Given the description of an element on the screen output the (x, y) to click on. 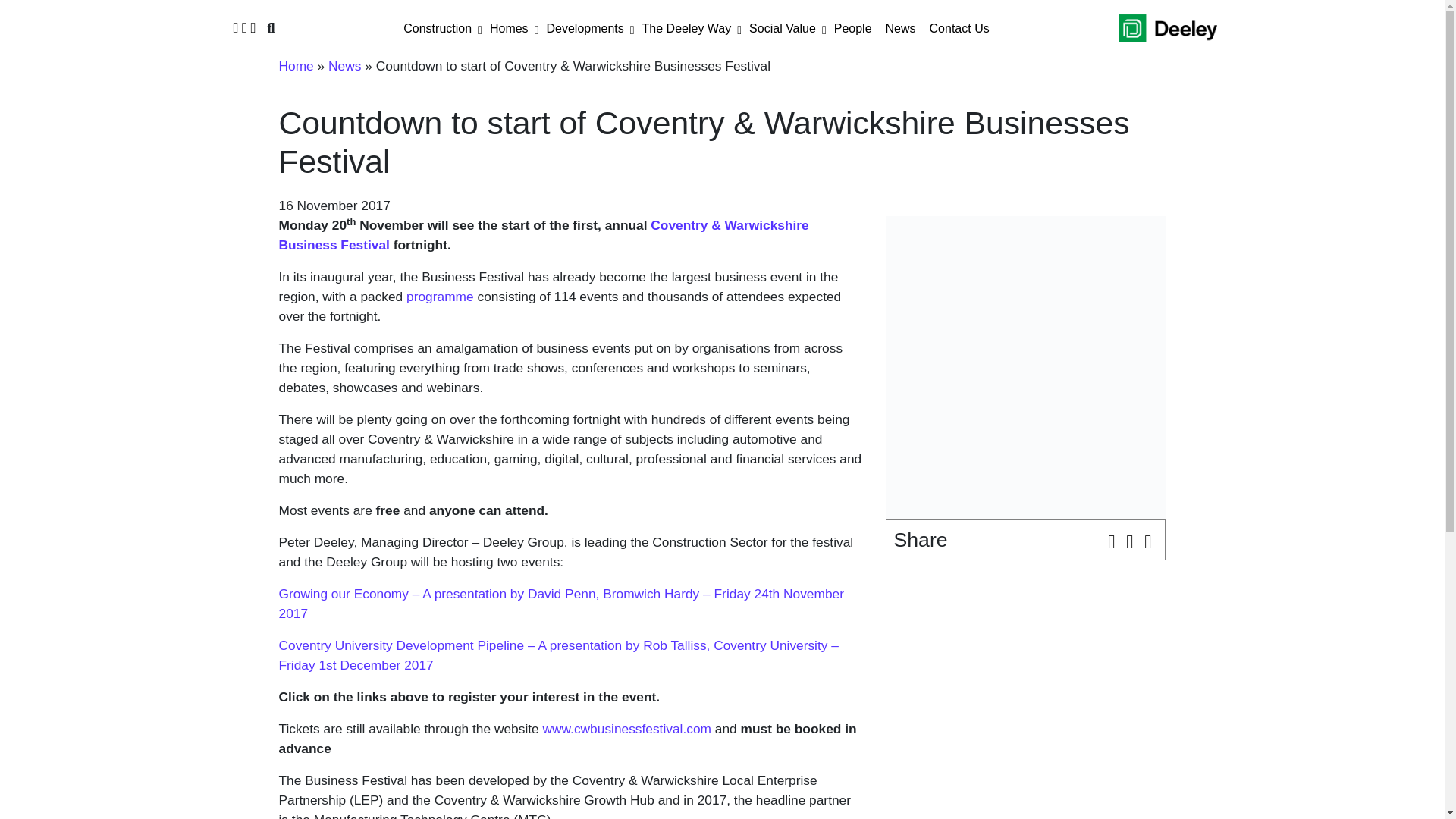
Developments (584, 28)
Construction (437, 28)
Homes (508, 28)
